Given the description of an element on the screen output the (x, y) to click on. 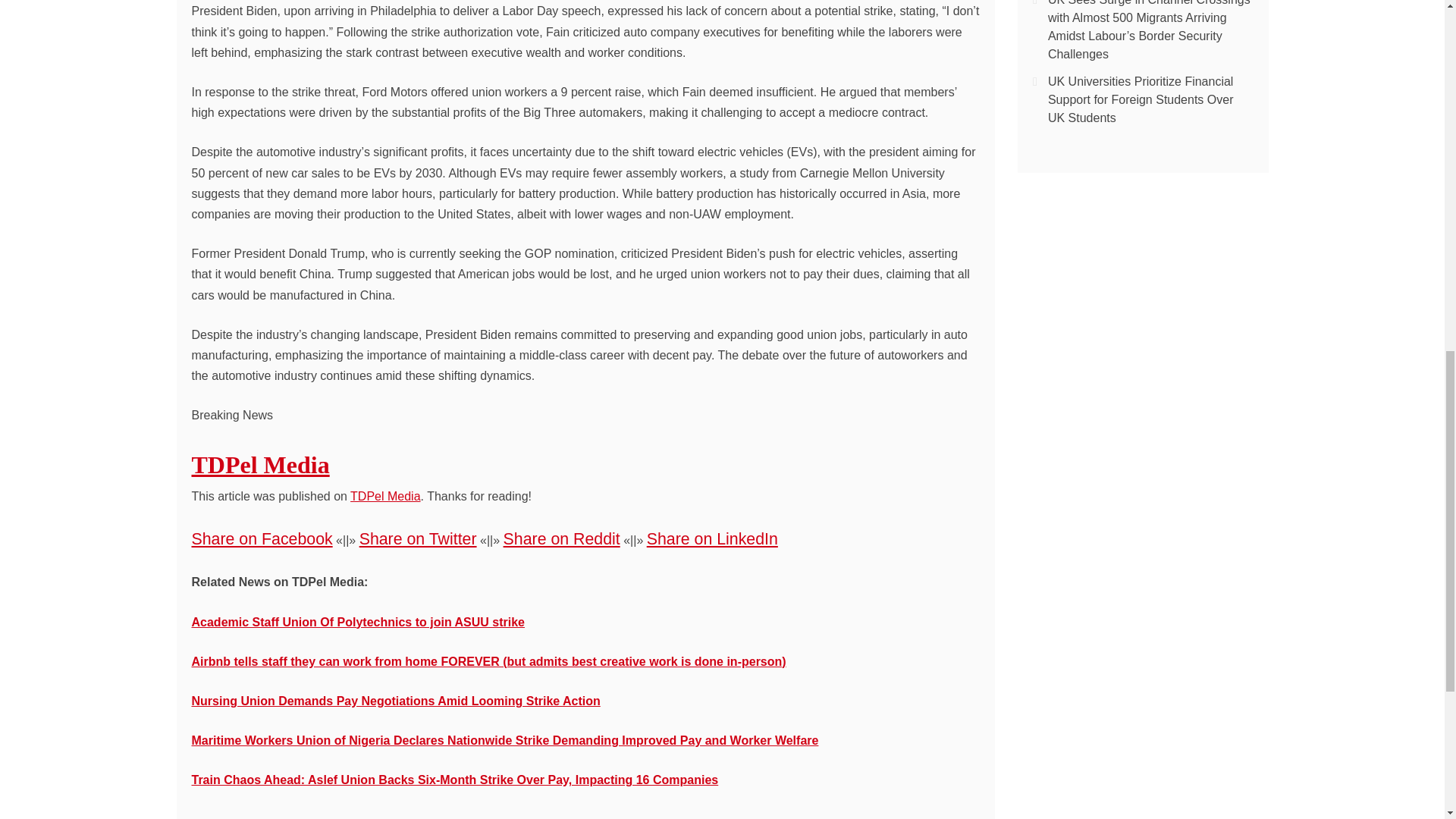
Academic Staff Union Of Polytechnics to join ASUU strike (357, 621)
